Given the description of an element on the screen output the (x, y) to click on. 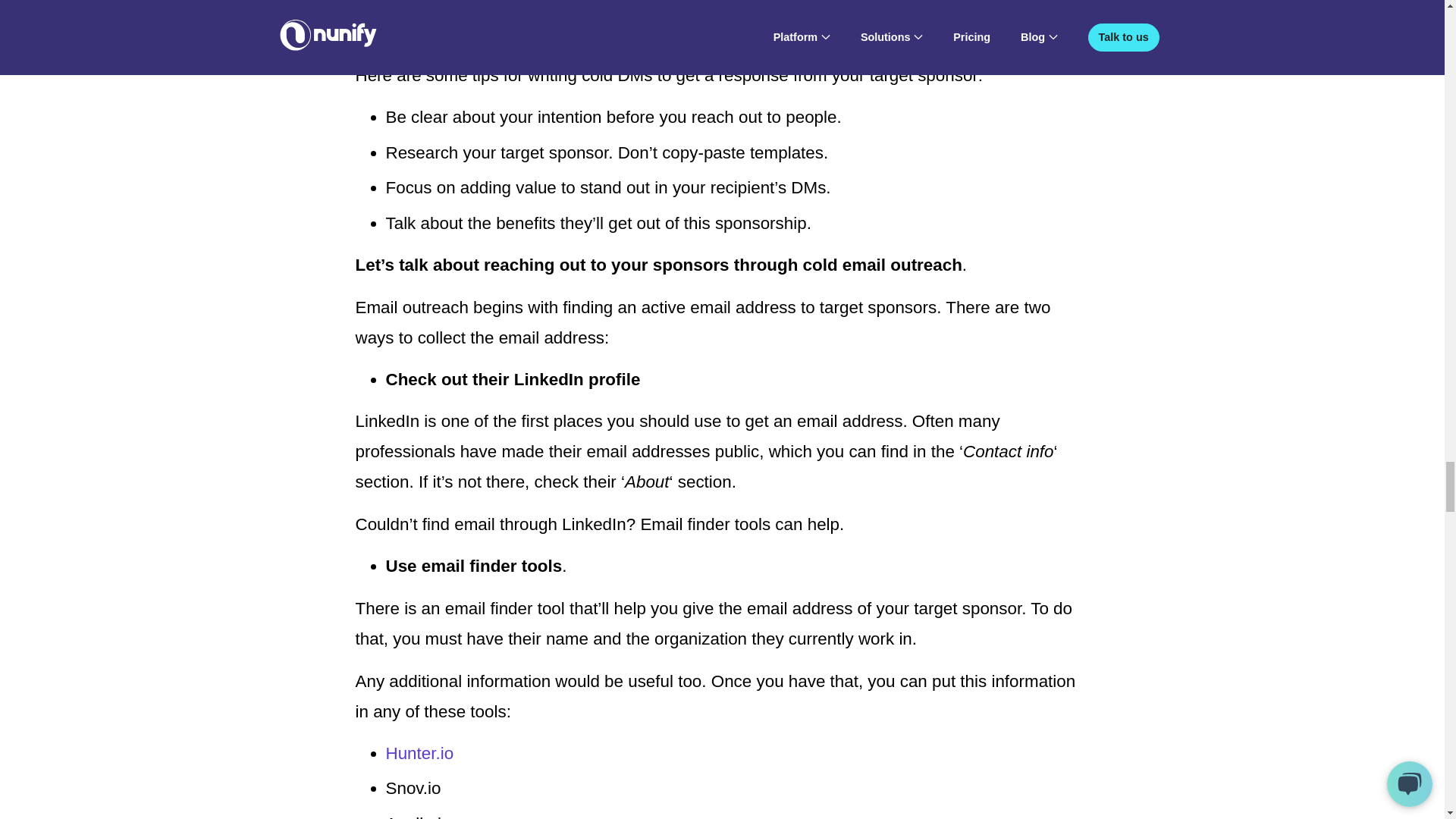
Hunter.io (418, 752)
